Given the description of an element on the screen output the (x, y) to click on. 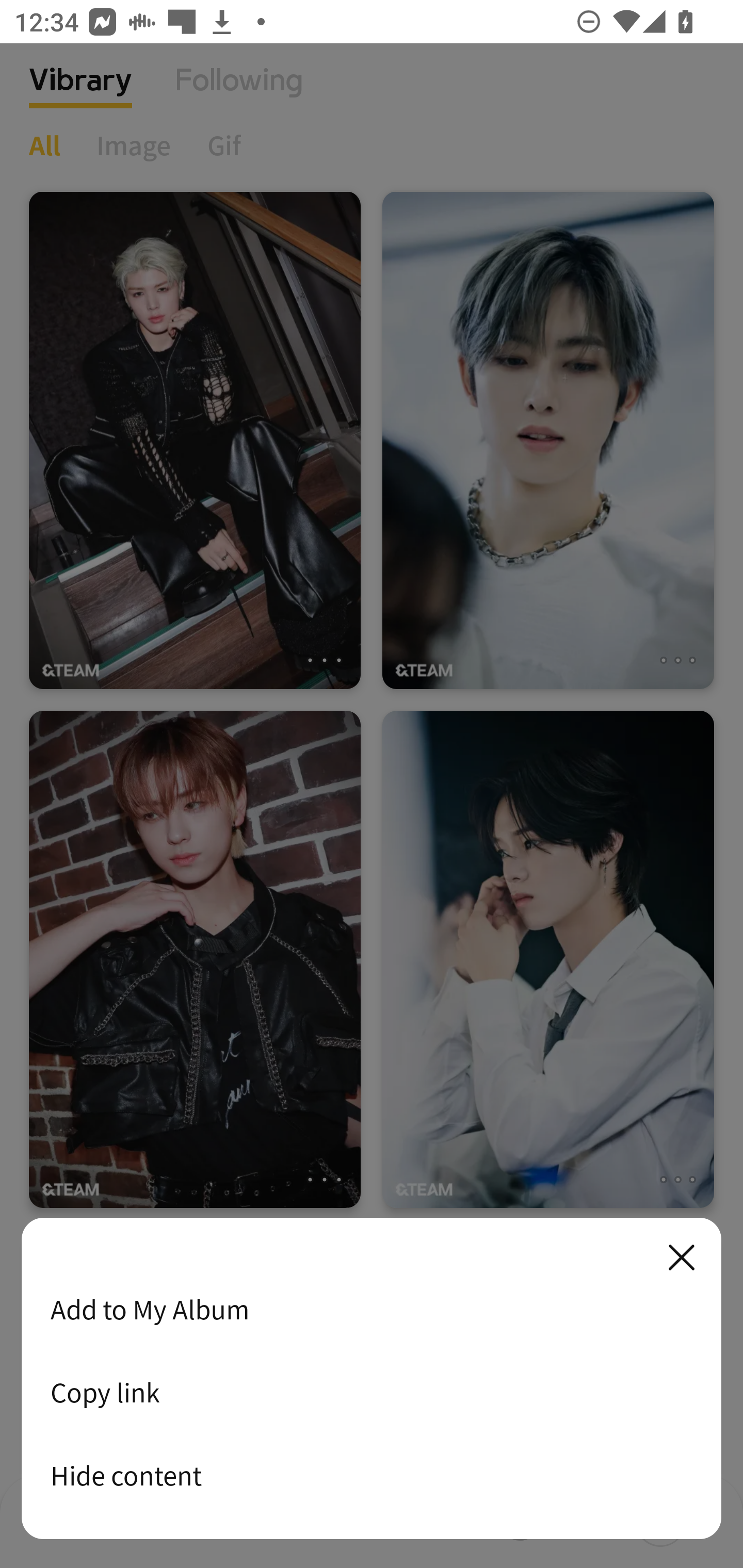
Add to My Album Copy link Hide content (371, 1378)
Add to My Album (371, 1308)
Copy link (371, 1391)
Hide content (371, 1474)
